Given the description of an element on the screen output the (x, y) to click on. 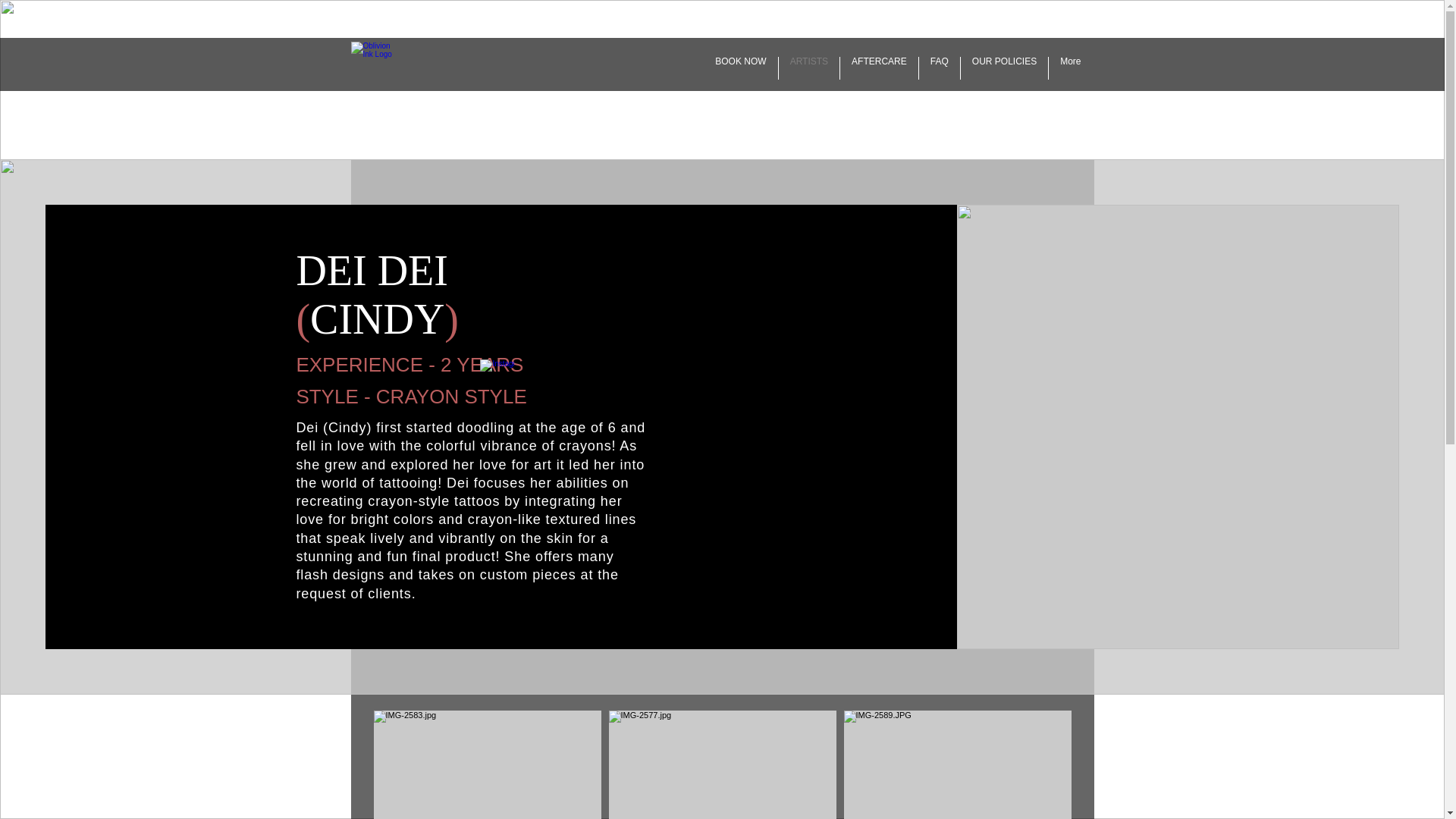
AFTERCARE (879, 67)
OUR POLICIES (1004, 67)
ARTISTS (809, 67)
FAQ (938, 67)
BOOK NOW (740, 67)
